Given the description of an element on the screen output the (x, y) to click on. 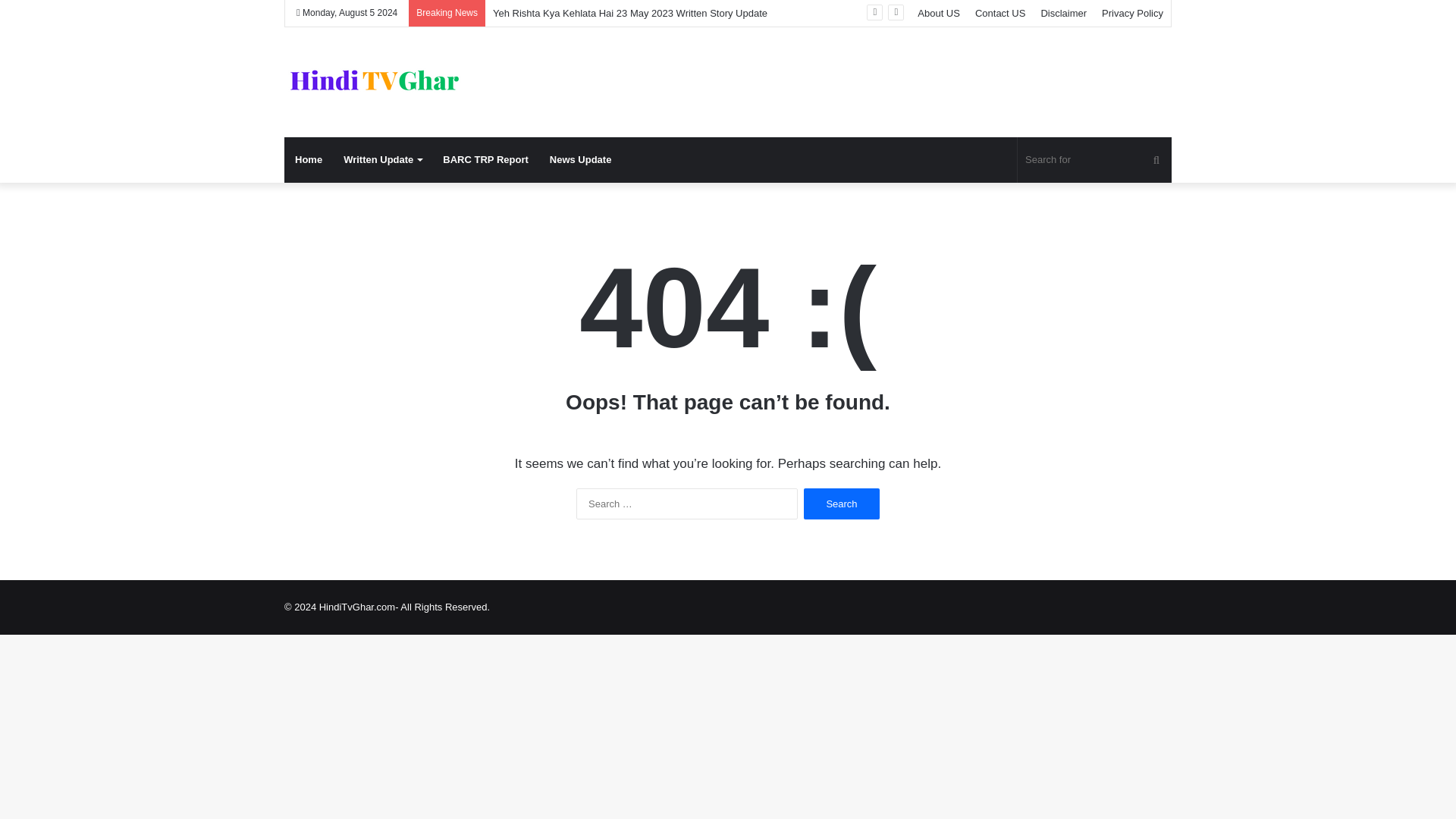
Disclaimer (1063, 13)
Search (841, 503)
Search for (1094, 159)
Latest Hindi TV Serials Written Episode And News Updates (375, 82)
Home (308, 159)
Yeh Rishta Kya Kehlata Hai 23 May 2023 Written Story Update (630, 12)
Privacy Policy (1132, 13)
Contact US (1000, 13)
Search (841, 503)
Written Update (382, 159)
About US (939, 13)
